Given the description of an element on the screen output the (x, y) to click on. 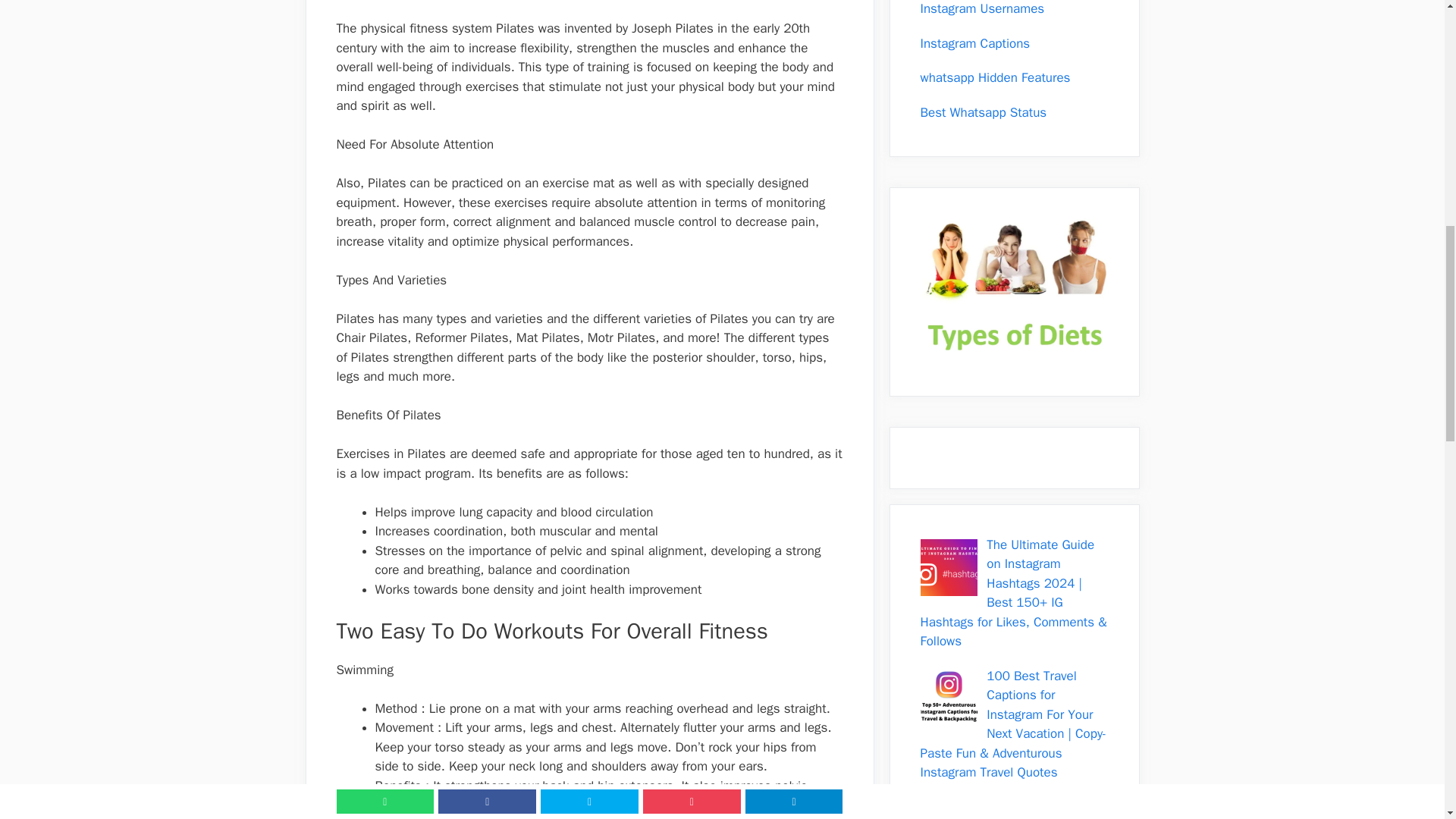
Advertisement (589, 6)
Scroll back to top (1406, 720)
